Given the description of an element on the screen output the (x, y) to click on. 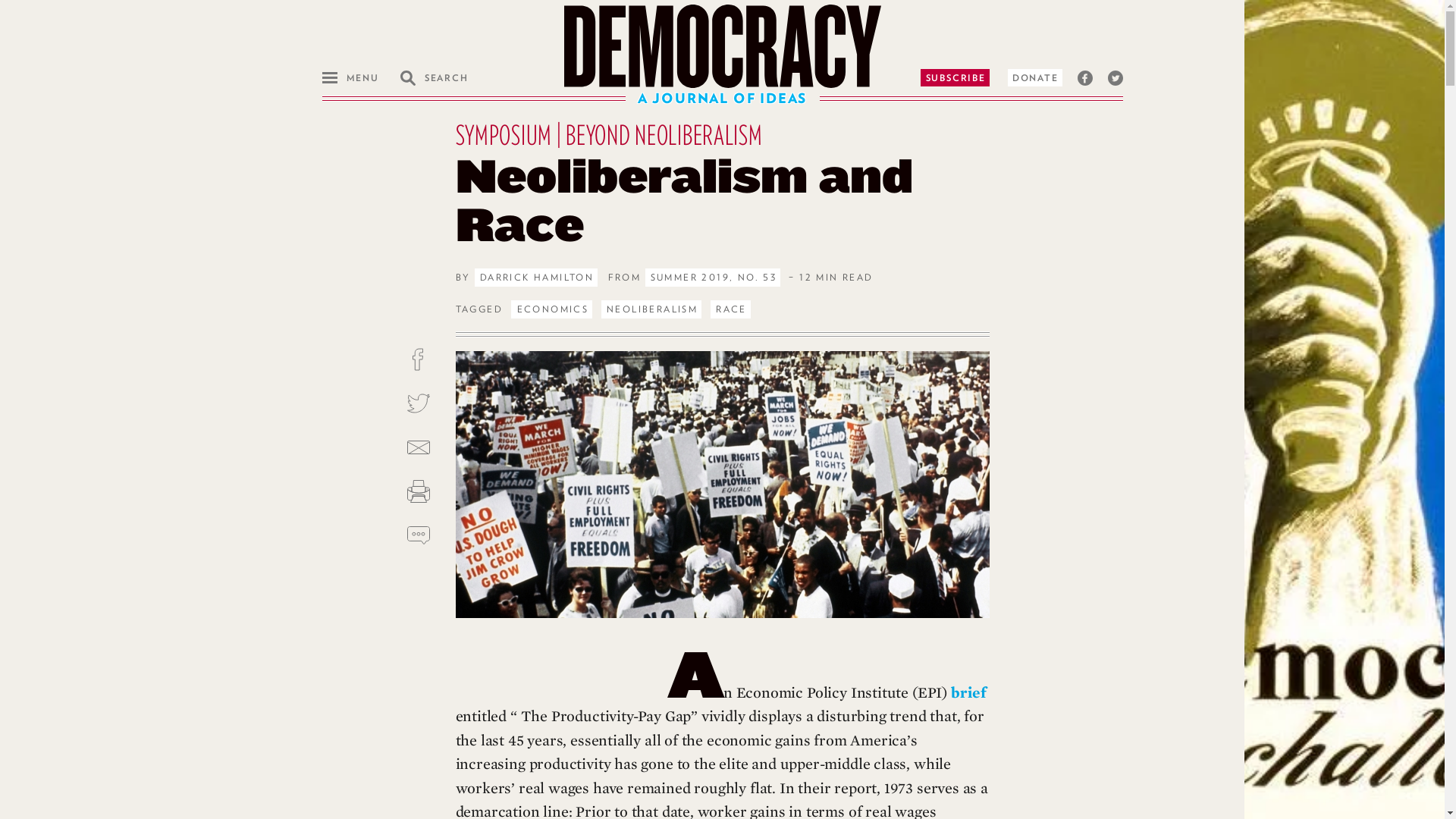
brief (968, 693)
NEOLIBERALISM (651, 309)
ECONOMICS (551, 309)
RACE (730, 309)
DARRICK HAMILTON (535, 277)
SUMMER 2019, NO. 53 (712, 277)
